Given the description of an element on the screen output the (x, y) to click on. 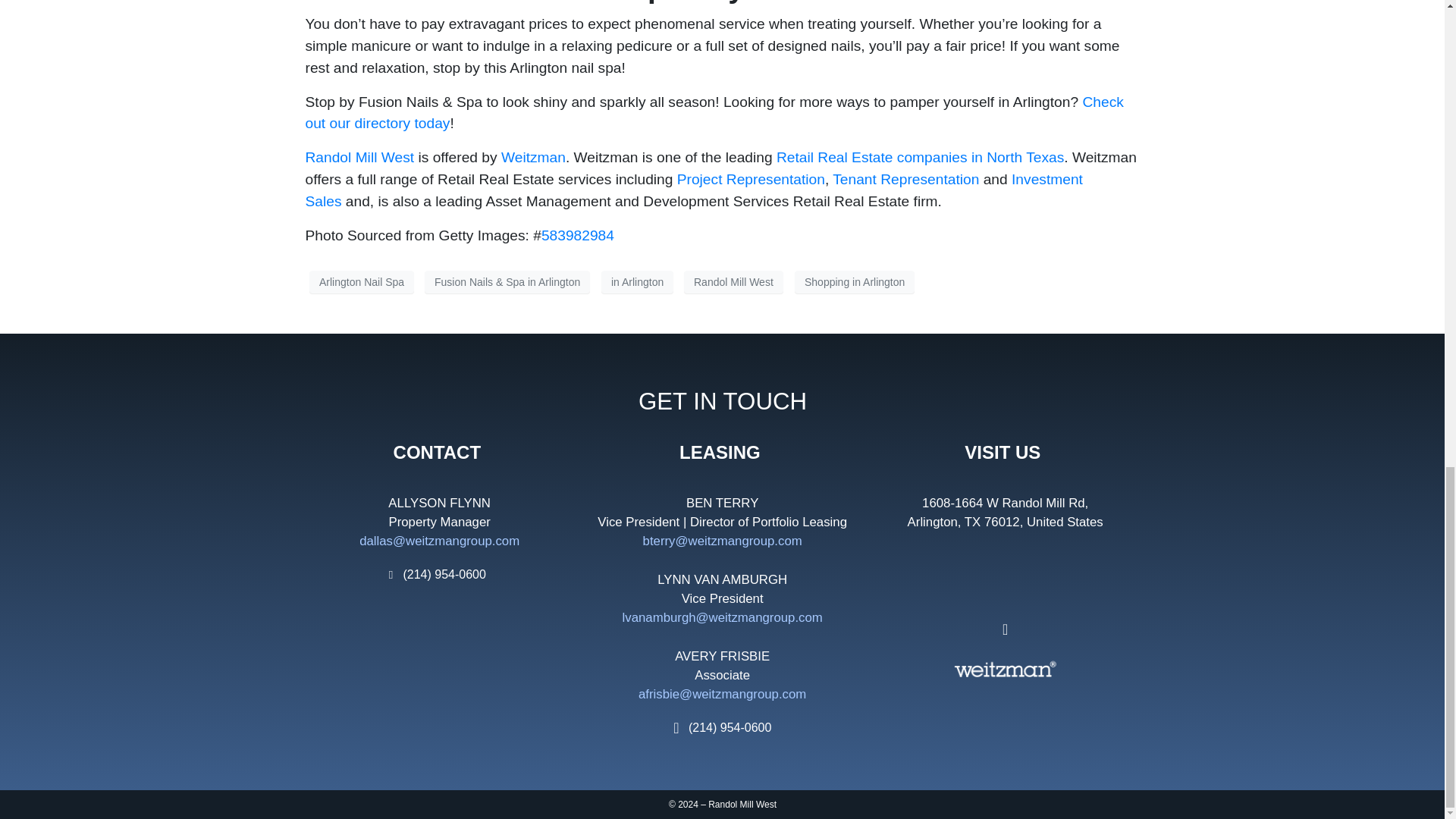
in Arlington (636, 282)
Tenant Representation (905, 179)
Retail Real Estate companies in North Texas (920, 157)
Randol Mill West (358, 157)
583982984 (577, 235)
Weitzman (533, 157)
Arlington Nail Spa (360, 282)
Check out our directory today (713, 112)
Project Representation (751, 179)
Shopping in Arlington (854, 282)
